Given the description of an element on the screen output the (x, y) to click on. 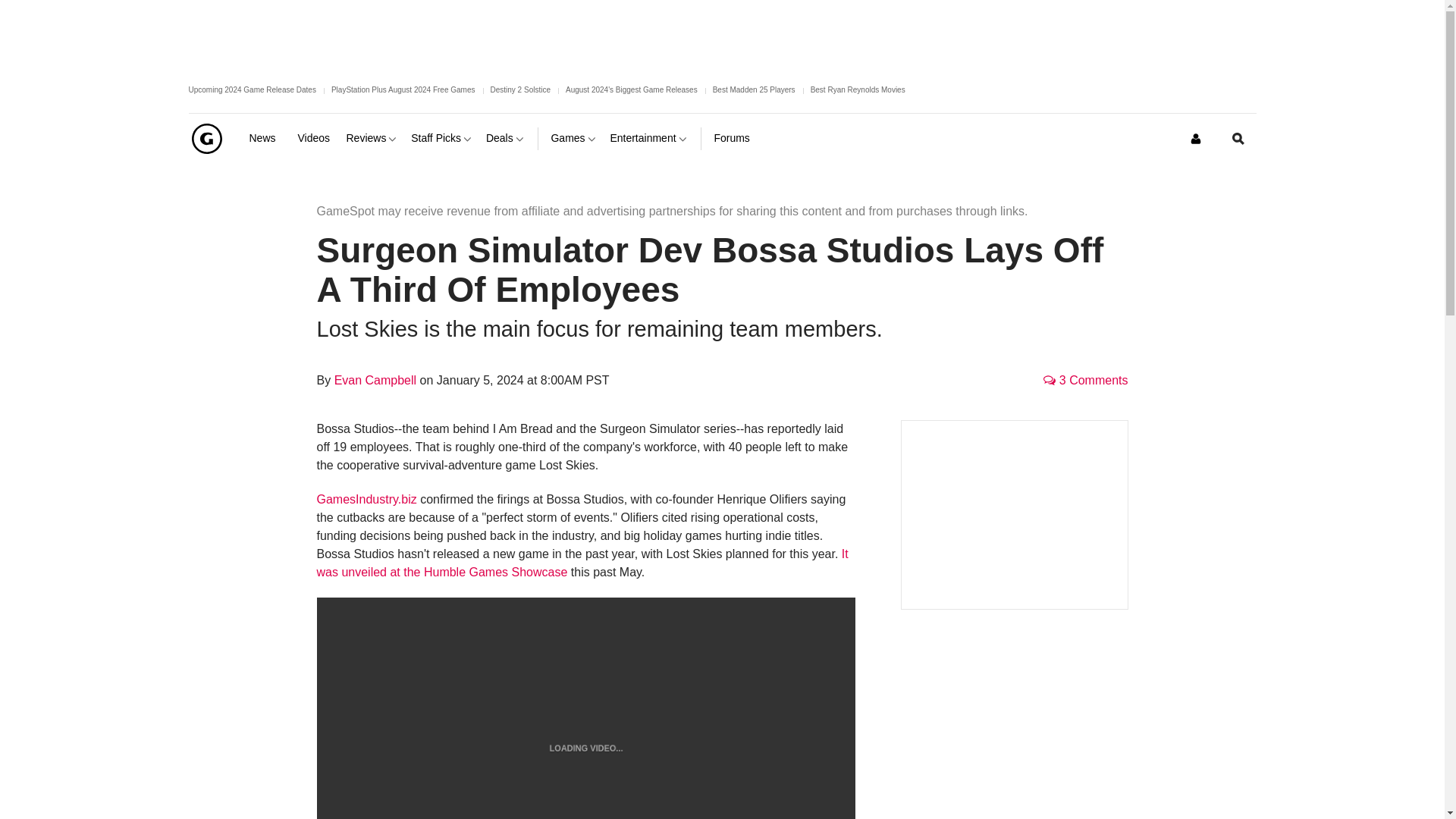
August 2024's Biggest Game Releases (631, 89)
GameSpot (205, 138)
PlayStation Plus August 2024 Free Games (403, 89)
News (266, 138)
Videos (315, 138)
Reviews (372, 138)
Destiny 2 Solstice (519, 89)
Upcoming 2024 Game Release Dates (251, 89)
Best Ryan Reynolds Movies (857, 89)
Best Madden 25 Players (753, 89)
